Given the description of an element on the screen output the (x, y) to click on. 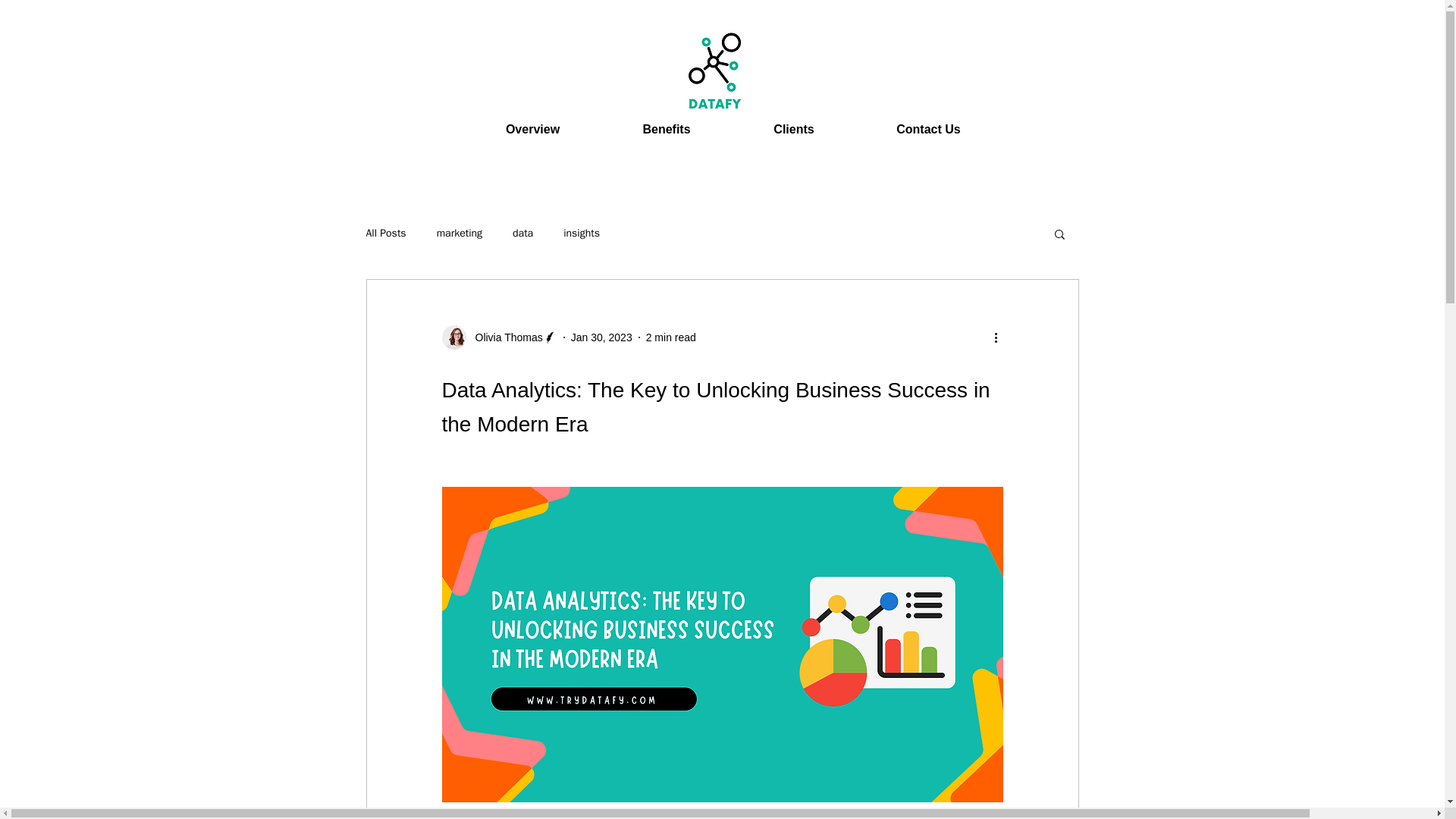
Olivia Thomas (498, 337)
All Posts (385, 233)
data (522, 233)
Jan 30, 2023 (600, 336)
2 min read (670, 336)
Contact Us (928, 129)
insights (581, 233)
Clients (794, 129)
Benefits (665, 129)
Olivia Thomas (503, 336)
